Given the description of an element on the screen output the (x, y) to click on. 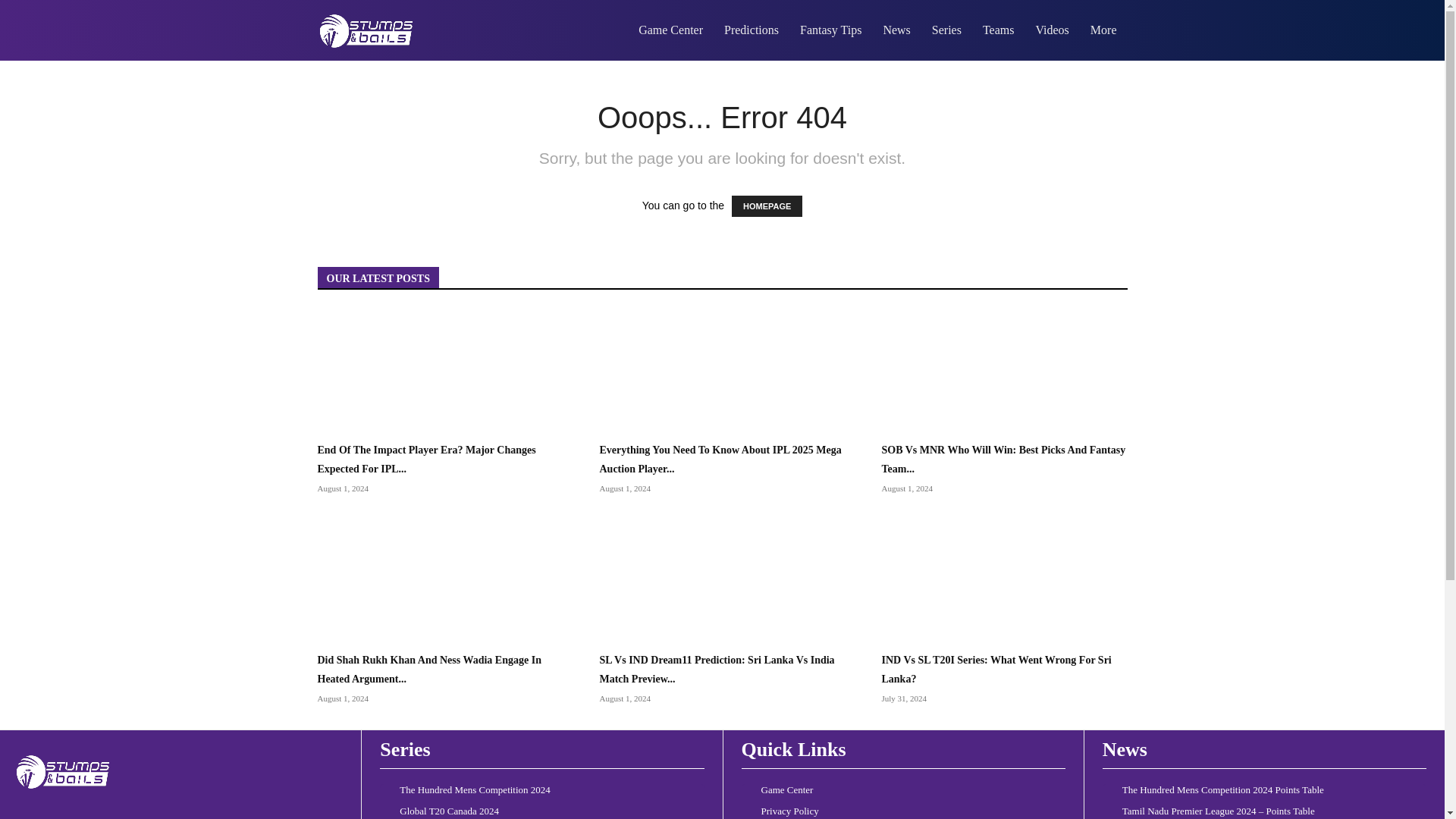
stumps and bails logo (365, 30)
